Given the description of an element on the screen output the (x, y) to click on. 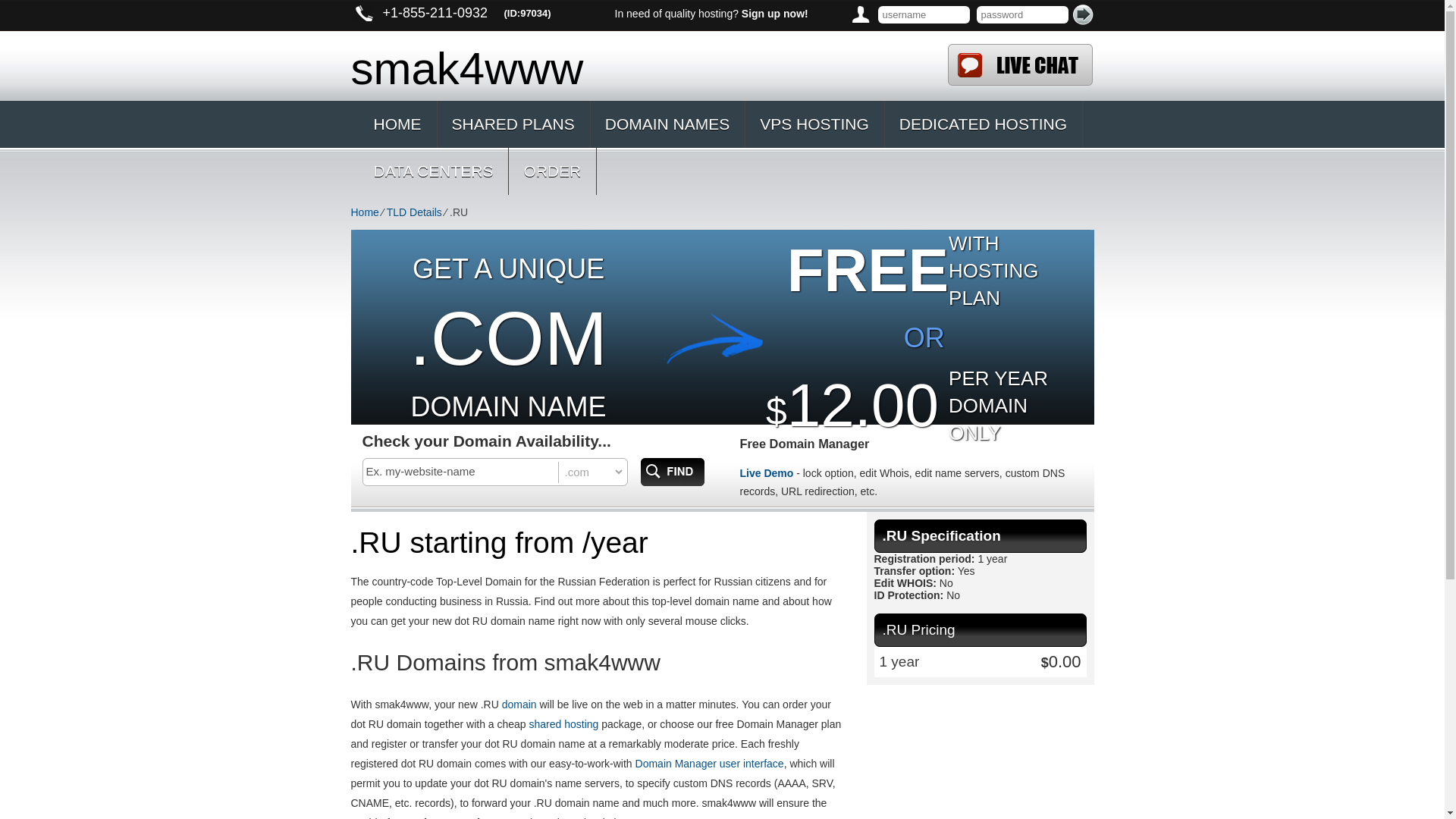
sign up (774, 13)
Domain Manager user interface (709, 763)
smak4www (634, 64)
TLD Details (414, 212)
ORDER (551, 171)
Ex. my-website-name (461, 471)
DEDICATED HOSTING (982, 124)
SHARED PLANS (512, 124)
Home (364, 212)
HOME (396, 124)
